Given the description of an element on the screen output the (x, y) to click on. 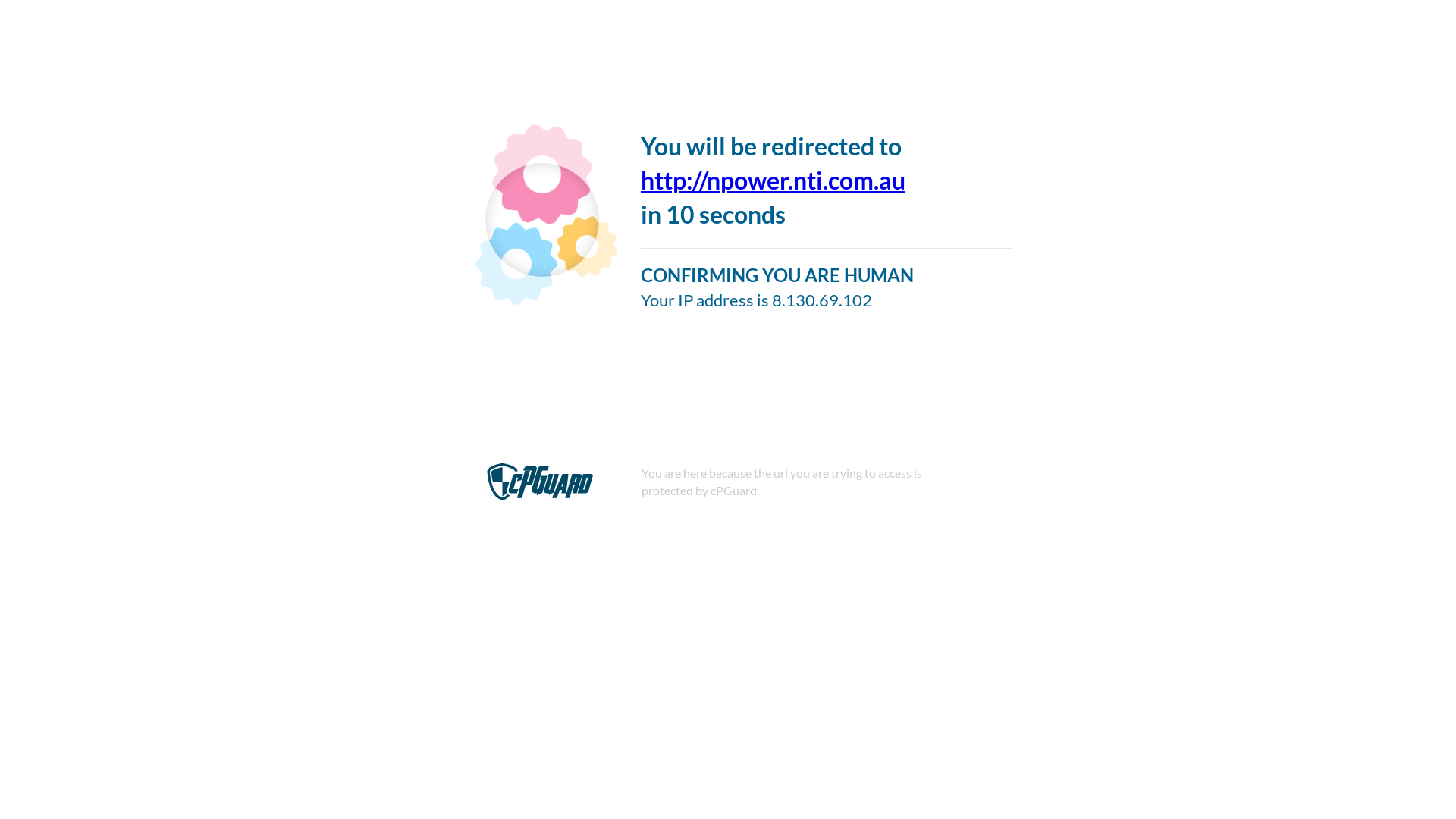
http://npower.nti.com.au Element type: text (772, 179)
